Given the description of an element on the screen output the (x, y) to click on. 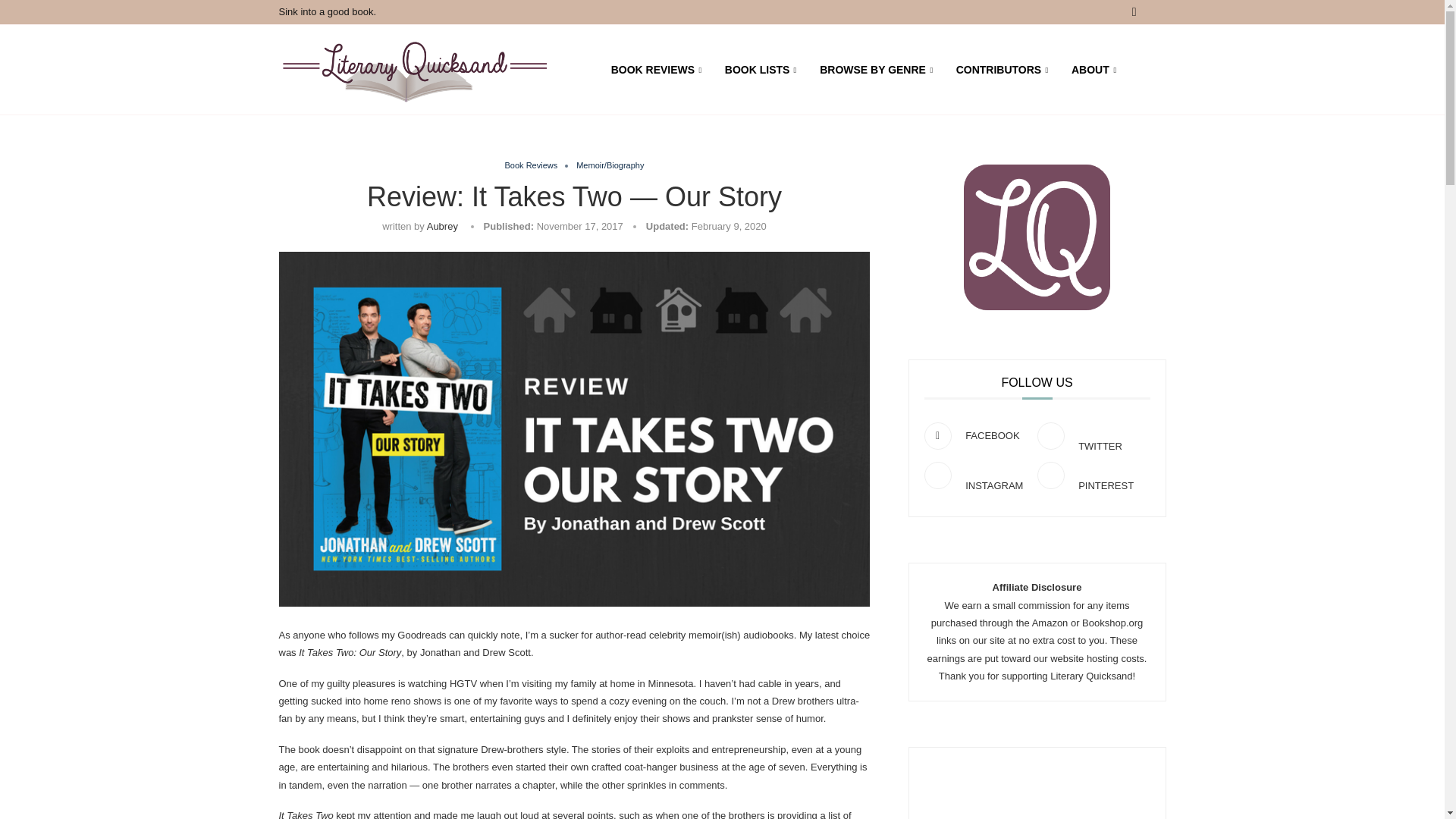
CONTRIBUTORS (1002, 70)
BOOK REVIEWS (656, 70)
BROWSE BY GENRE (876, 70)
